Given the description of an element on the screen output the (x, y) to click on. 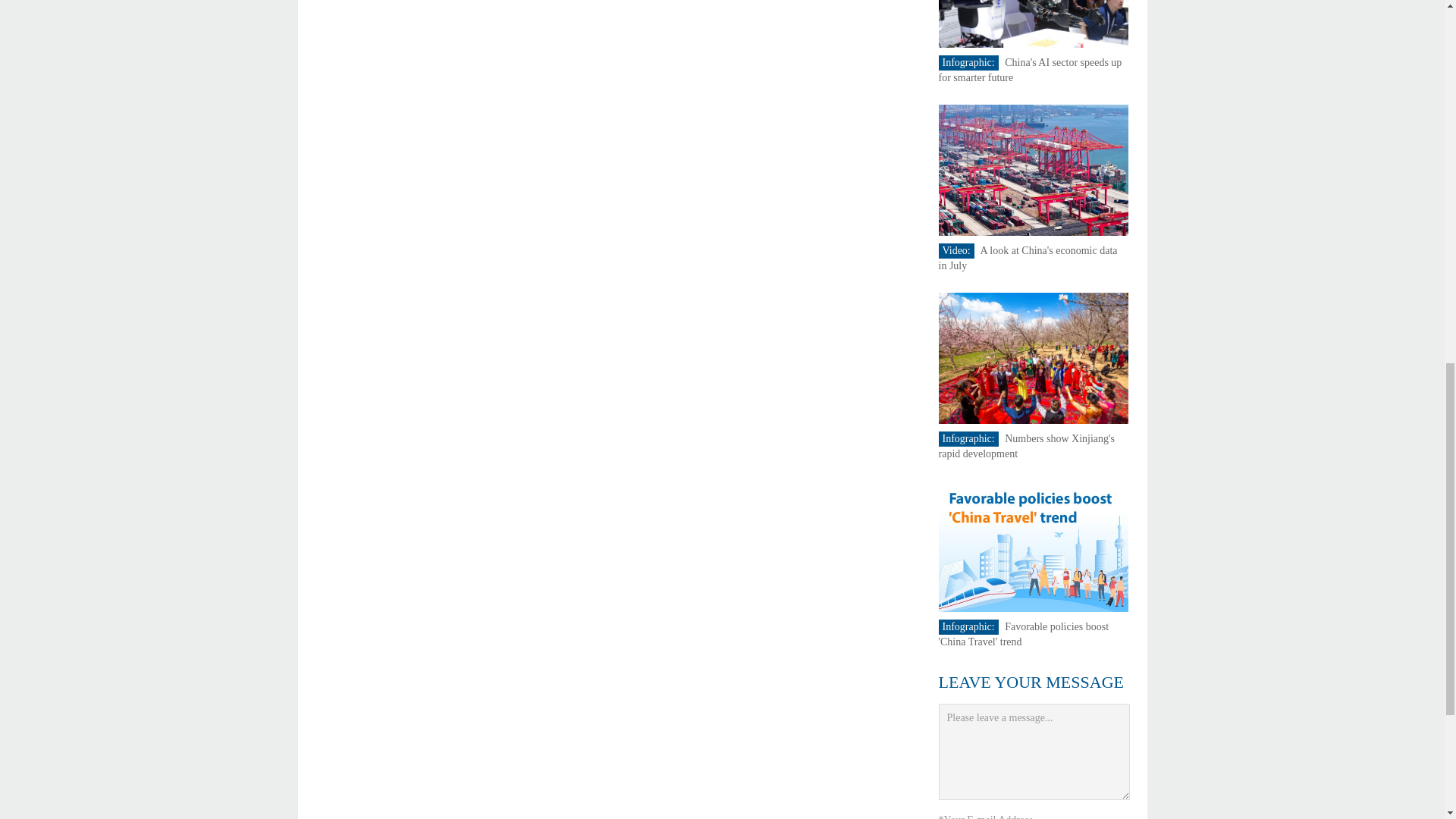
Favorable policies boost 'China Travel' trend (1024, 633)
Numbers show Xinjiang's rapid development (1027, 446)
A look at China's economic data in July (1028, 257)
LEAVE YOUR MESSAGE (1031, 681)
China's AI sector speeds up for smarter future (1030, 69)
